Given the description of an element on the screen output the (x, y) to click on. 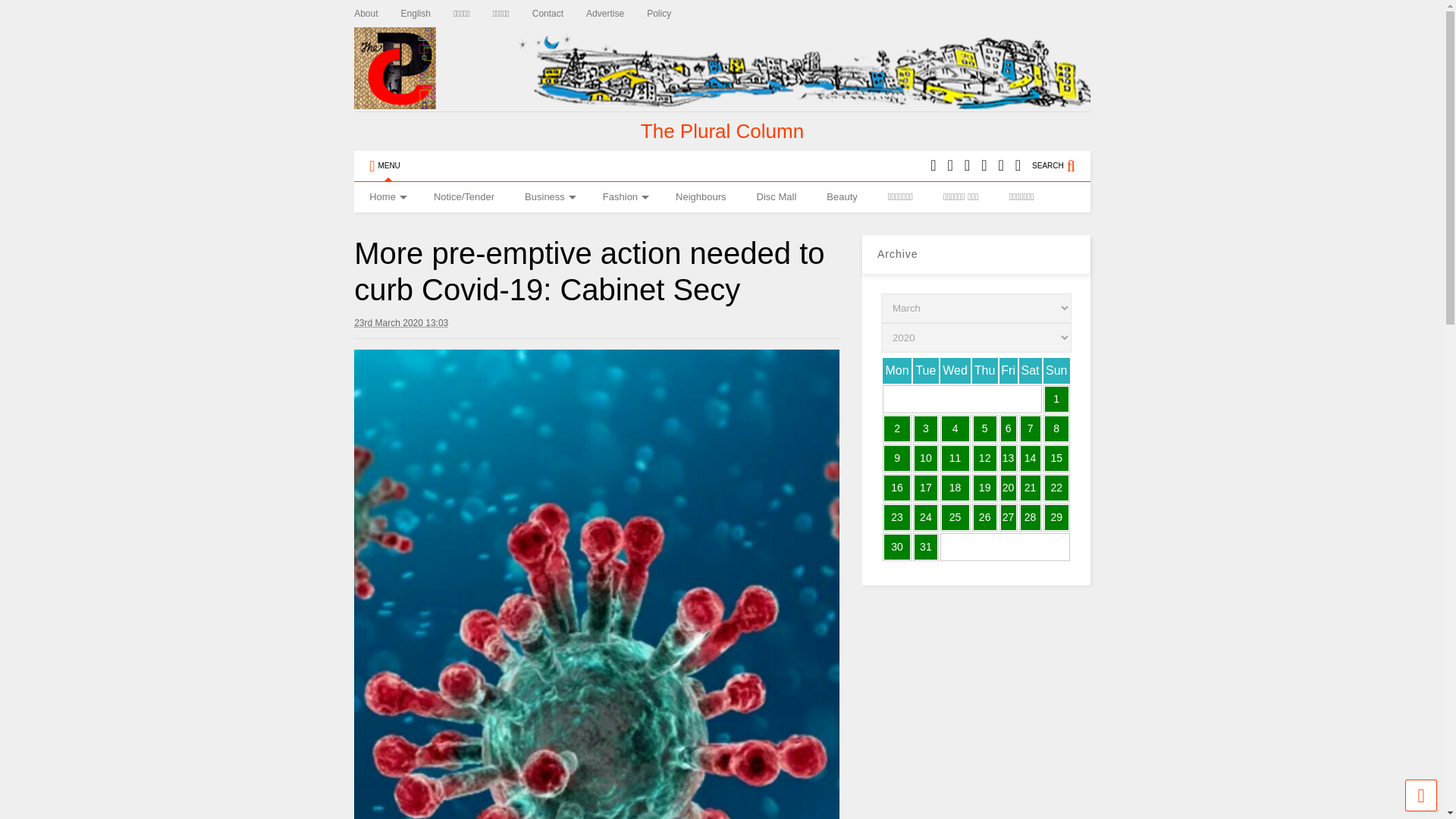
twitter (950, 165)
SEARCH (1061, 165)
English (426, 13)
linkedin (966, 165)
Advertise (616, 13)
Business (548, 196)
23rd March 2020 13:03 (400, 322)
The Plural Column (721, 130)
facebook (1017, 165)
MENU (383, 165)
Your plural news (721, 130)
About (376, 13)
Contact (559, 13)
youtube (933, 165)
